Given the description of an element on the screen output the (x, y) to click on. 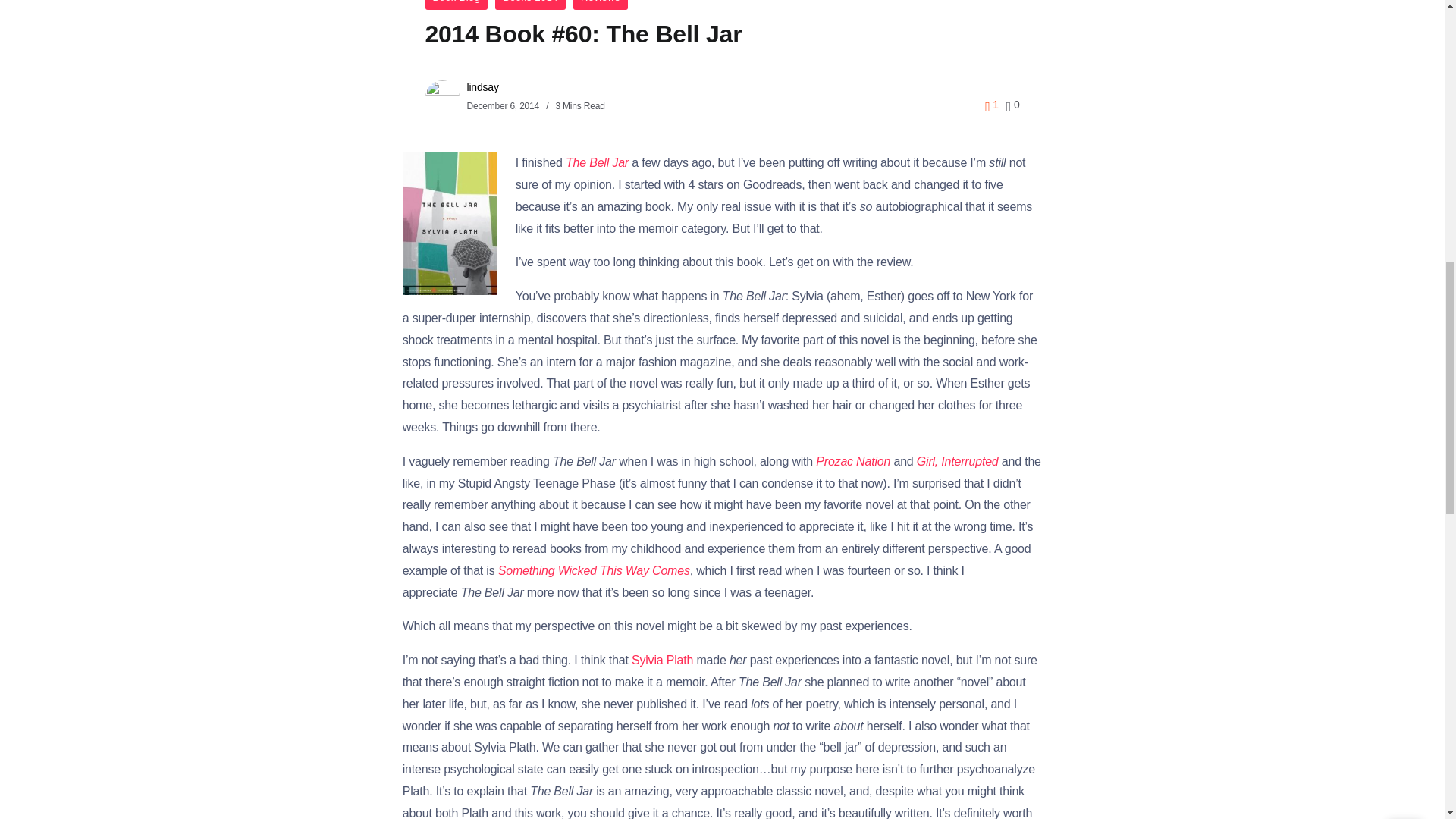
0 (1013, 104)
Reviews (600, 4)
Book Blog (456, 4)
lindsay (483, 87)
Girl, Interrupted (957, 461)
The Bell Jar (597, 162)
Sylvia Plath (662, 659)
Prozac Nation (852, 461)
Reviews (600, 4)
Something Wicked This Way Comes (593, 570)
